Given the description of an element on the screen output the (x, y) to click on. 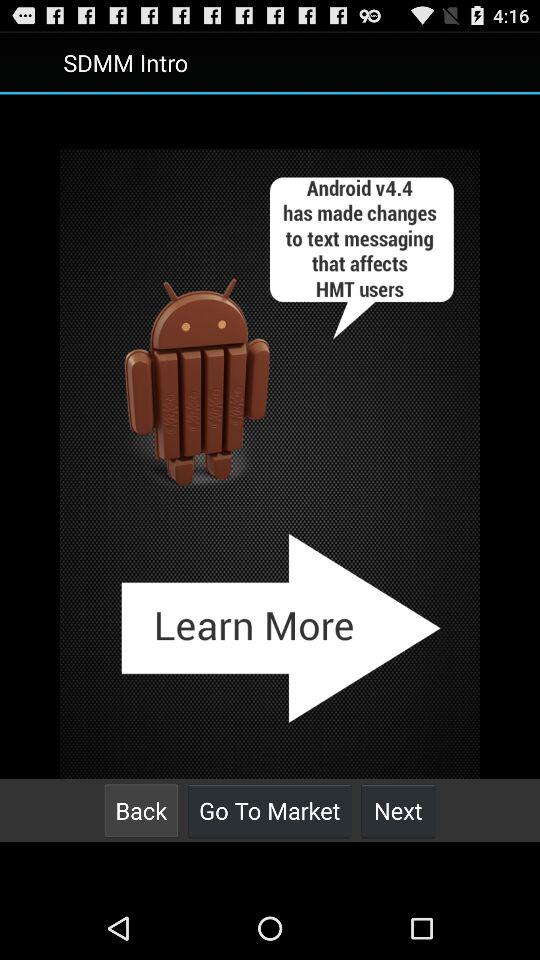
turn on go to market button (269, 810)
